Given the description of an element on the screen output the (x, y) to click on. 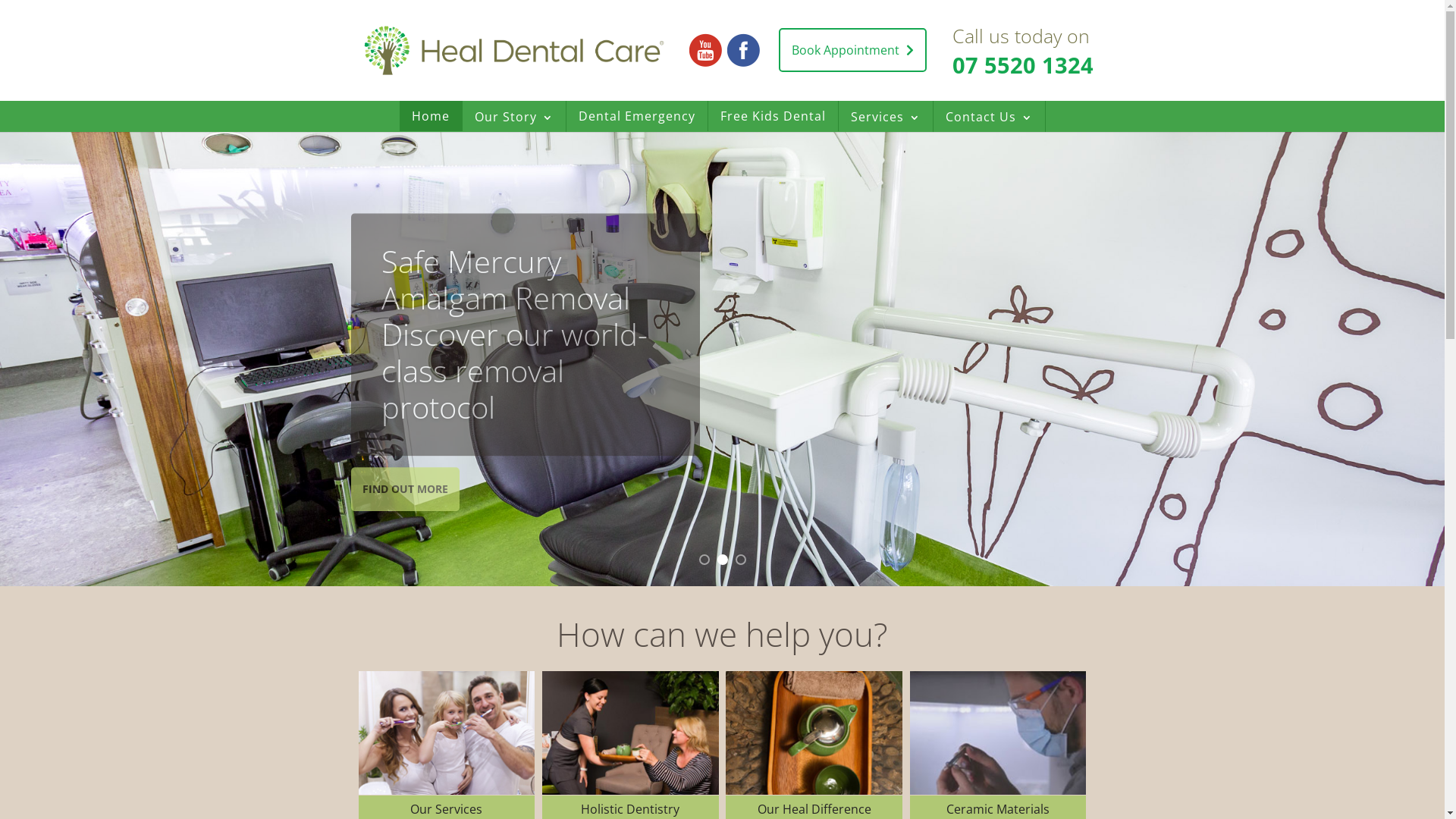
Dental Emergency Element type: text (635, 115)
Contact Us Element type: text (988, 115)
FIND OUT MORE Element type: text (404, 460)
1 Element type: text (704, 559)
3 Element type: text (740, 559)
07 5520 1324 Element type: text (1022, 64)
Home Element type: text (429, 115)
Book Appointment Element type: text (852, 50)
Services Element type: text (885, 115)
Our Story Element type: text (513, 115)
2 Element type: text (722, 559)
Free Kids Dental Element type: text (772, 115)
